Given the description of an element on the screen output the (x, y) to click on. 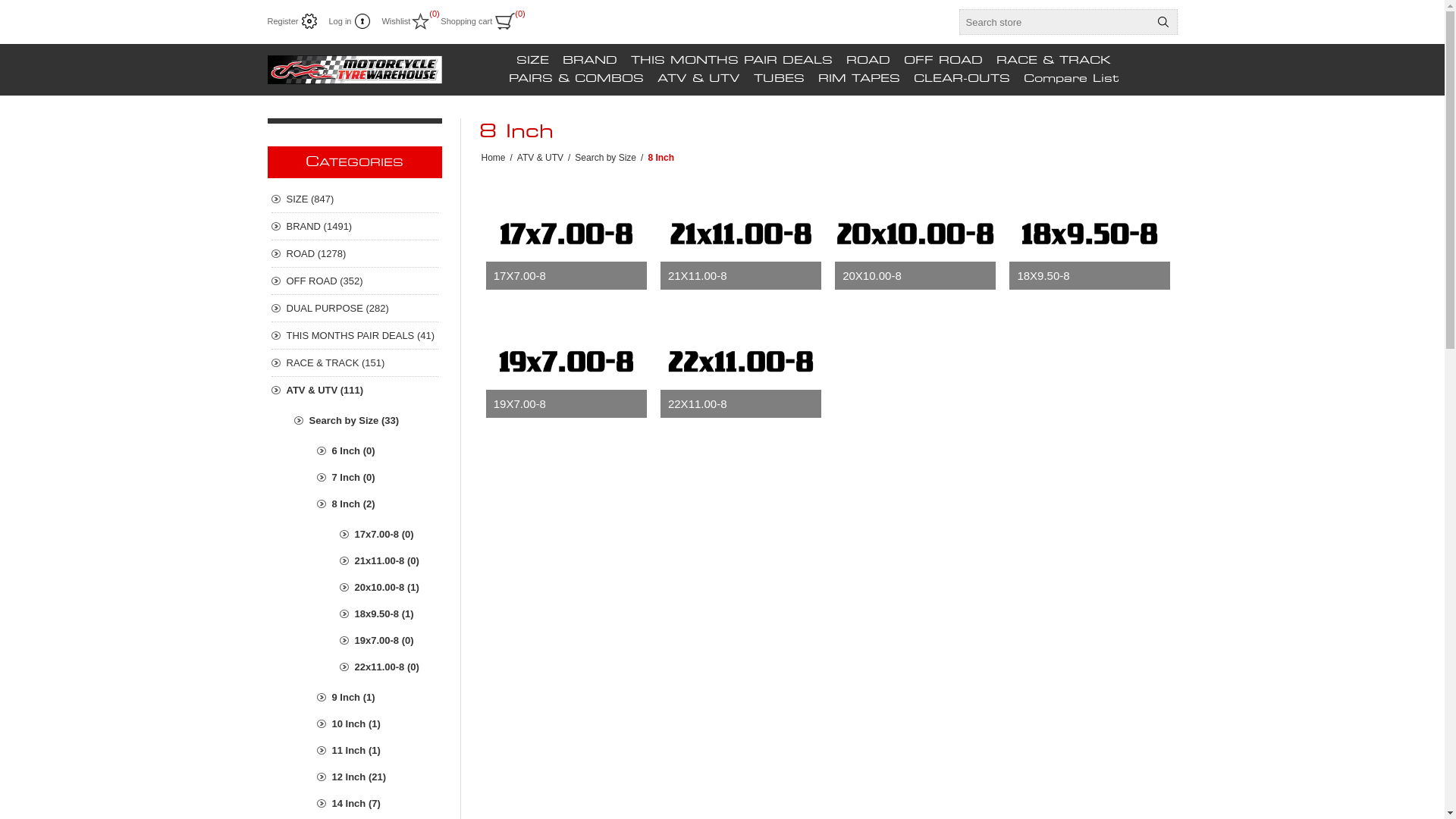
Log in Element type: text (349, 21)
Wishlist
(0) Element type: text (405, 21)
Show products in category 22x11.00-8 Element type: hover (740, 360)
Show products in category 18x9.50-8 Element type: hover (1089, 233)
Show products in category 19x7.00-8 Element type: hover (566, 360)
Home Element type: text (492, 157)
THIS MONTHS PAIR DEALS Element type: text (731, 60)
22x11.00-8 (0) Element type: text (388, 666)
20X10.00-8 Element type: text (915, 275)
Register Element type: text (291, 21)
19x7.00-8 (0) Element type: text (388, 640)
Search Element type: text (1162, 21)
Compare List Element type: text (1070, 78)
THIS MONTHS PAIR DEALS (41) Element type: text (354, 335)
OFF ROAD Element type: text (942, 60)
7 Inch (0) Element type: text (377, 477)
17X7.00-8 Element type: text (566, 275)
19X7.00-8 Element type: text (566, 403)
21X11.00-8 Element type: text (740, 275)
8 Inch (2) Element type: text (377, 503)
Show products in category 20x10.00-8 Element type: hover (914, 232)
20x10.00-8 (1) Element type: text (388, 587)
BRAND (1491) Element type: text (354, 226)
18x9.50-8 (1) Element type: text (388, 613)
RIM TAPES Element type: text (858, 78)
ATV & UTV Element type: text (697, 78)
11 Inch (1) Element type: text (377, 750)
22X11.00-8 Element type: text (740, 403)
6 Inch (0) Element type: text (377, 450)
CLEAR-OUTS Element type: text (961, 78)
TUBES Element type: text (778, 78)
RACE & TRACK (151) Element type: text (354, 362)
PAIRS & COMBOS Element type: text (575, 78)
Show products in category 17x7.00-8 Element type: hover (566, 233)
12 Inch (21) Element type: text (377, 776)
ATV & UTV Element type: text (540, 157)
10 Inch (1) Element type: text (377, 723)
OFF ROAD (352) Element type: text (354, 280)
RACE & TRACK Element type: text (1053, 60)
9 Inch (1) Element type: text (377, 697)
ATV & UTV (111) Element type: text (354, 389)
Show products in category 21x11.00-8 Element type: hover (740, 233)
Shopping cart
(0) Element type: text (477, 21)
DUAL PURPOSE (282) Element type: text (354, 307)
Show products in category 21x11.00-8 Element type: hover (740, 232)
Show products in category 17x7.00-8 Element type: hover (566, 232)
Show products in category 19x7.00-8 Element type: hover (566, 360)
SIZE Element type: text (531, 60)
17x7.00-8 (0) Element type: text (388, 533)
18X9.50-8 Element type: text (1089, 275)
Show products in category 18x9.50-8 Element type: hover (1089, 232)
14 Inch (7) Element type: text (377, 803)
ROAD Element type: text (868, 60)
Show products in category 20x10.00-8 Element type: hover (914, 233)
21x11.00-8 (0) Element type: text (388, 560)
SIZE (847) Element type: text (354, 198)
Motorcycle Tyre Warehouse Element type: hover (353, 69)
ROAD (1278) Element type: text (354, 253)
Search by Size Element type: text (605, 157)
Search by Size (33) Element type: text (366, 420)
Show products in category 22x11.00-8 Element type: hover (740, 360)
BRAND Element type: text (589, 60)
